Given the description of an element on the screen output the (x, y) to click on. 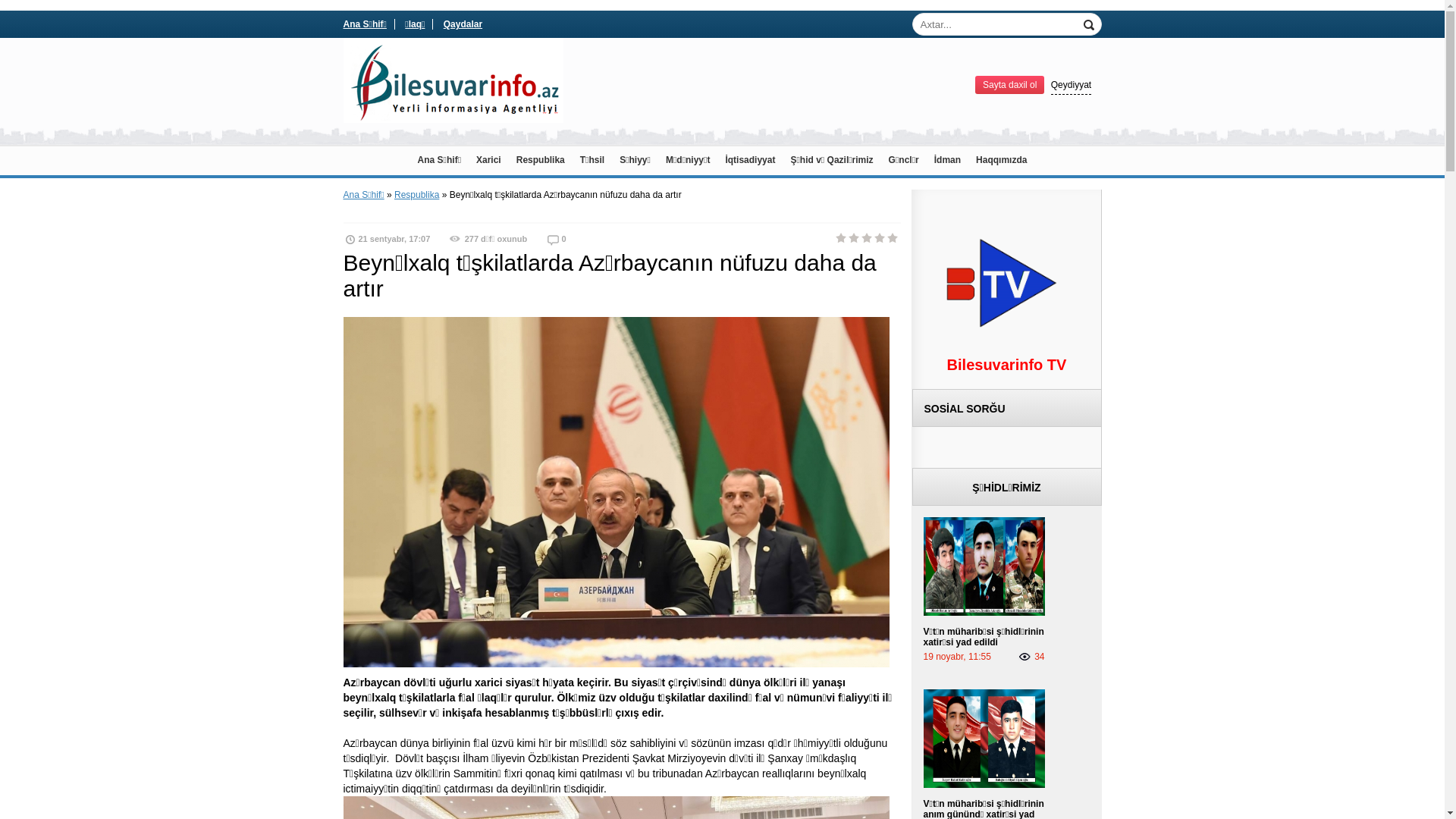
Qaydalar Element type: text (462, 23)
Respublika Element type: text (540, 160)
Sayta daxil ol Element type: text (1009, 84)
Search Element type: hover (1089, 23)
Respublika Element type: text (416, 194)
Xarici Element type: text (488, 160)
3 Element type: text (866, 237)
2 Element type: text (854, 237)
Bilesuvarinfo TV Element type: text (1006, 366)
5 Element type: text (892, 237)
4 Element type: text (880, 237)
Qeydiyyat Element type: text (1071, 84)
1 Element type: text (840, 237)
